Given the description of an element on the screen output the (x, y) to click on. 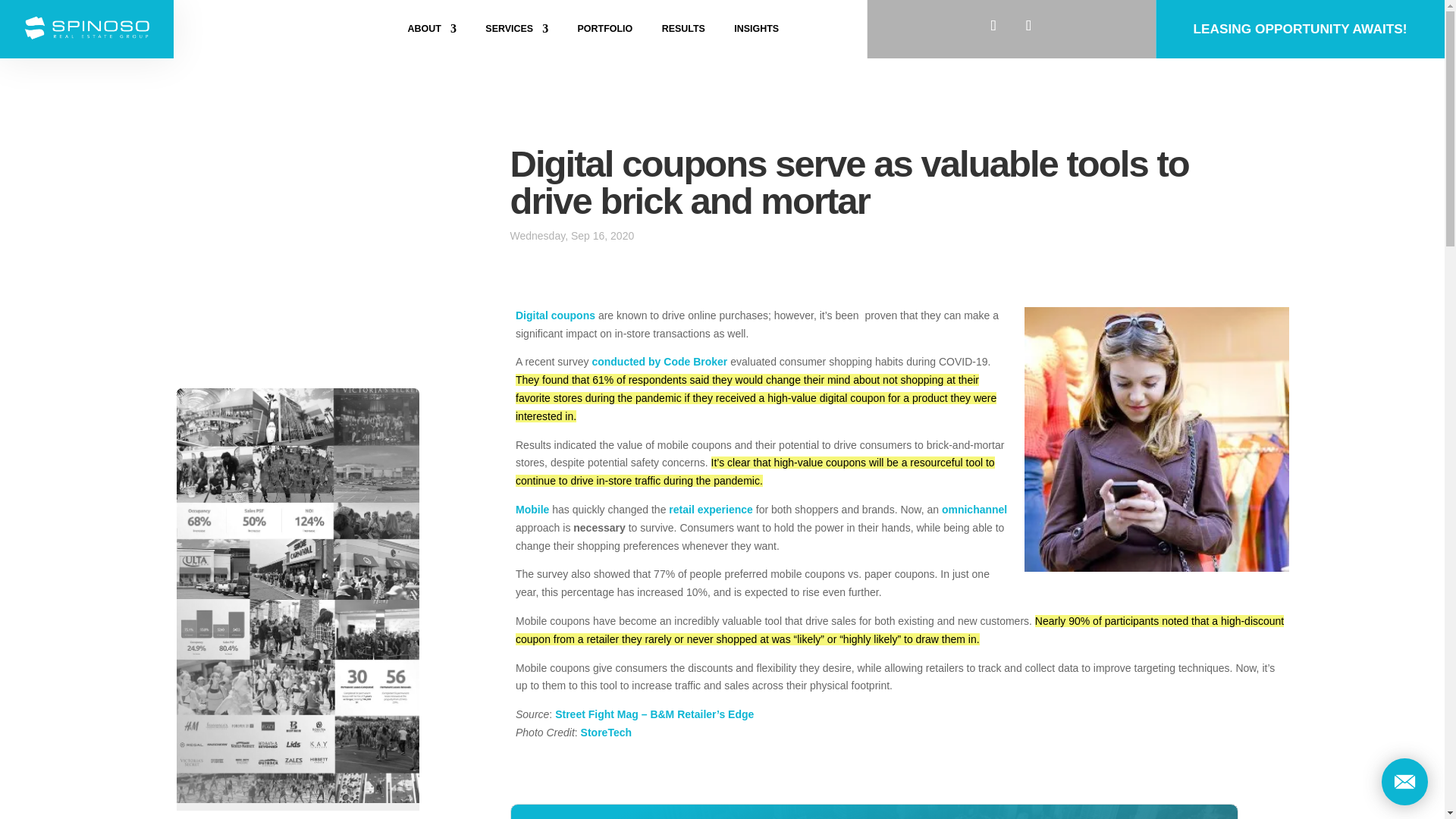
Follow on LinkedIn (992, 25)
RESULTS (683, 31)
PORTFOLIO (605, 31)
SERVICES (516, 31)
ABOUT (432, 31)
Follow on Instagram (1028, 25)
INSIGHTS (755, 31)
